Given the description of an element on the screen output the (x, y) to click on. 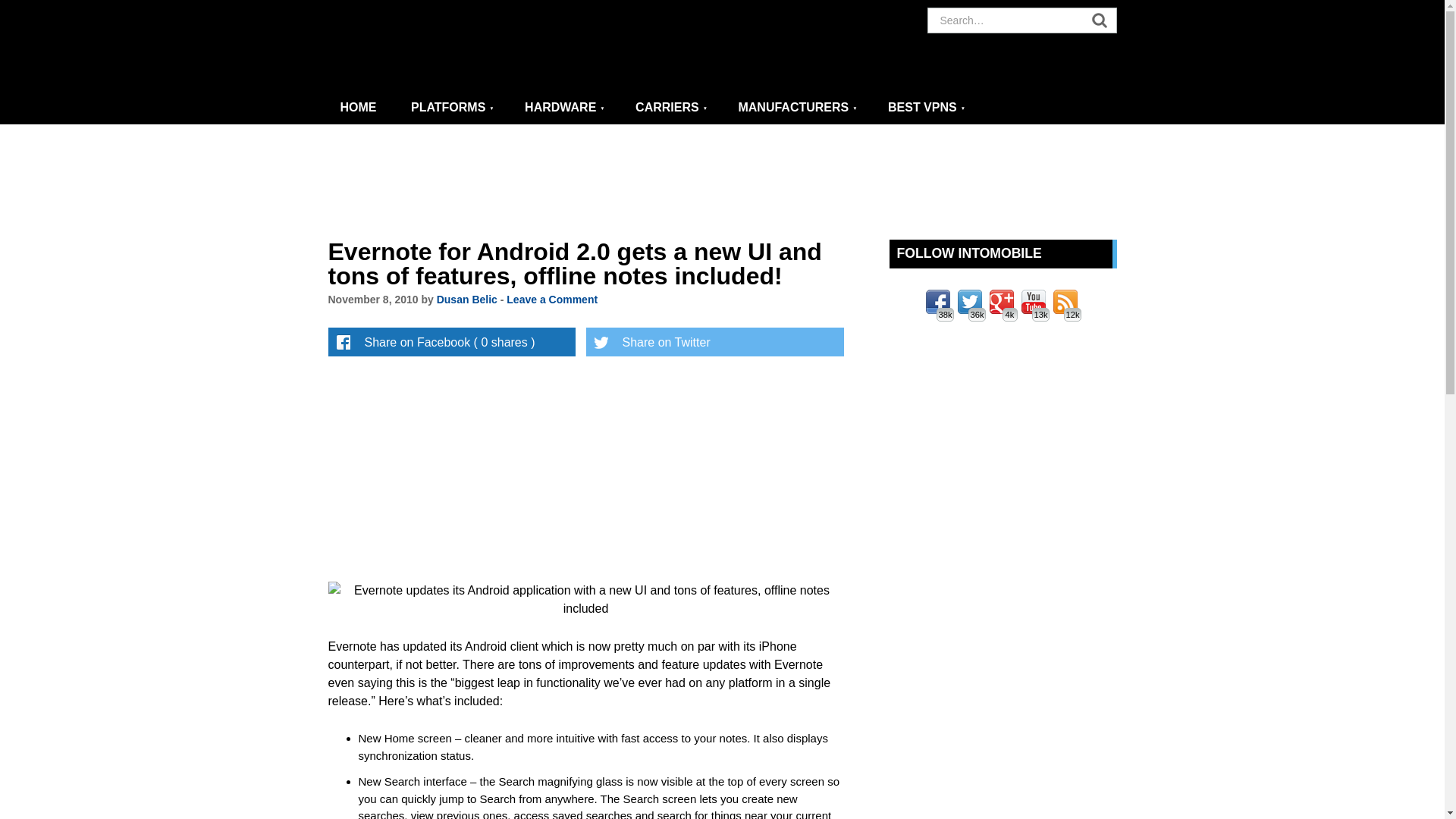
Advertisement (722, 182)
36k (968, 301)
Evernote for Android 2.0 (585, 599)
Dusan Belic (466, 299)
The Latest Cell Phone News and Reviews (359, 107)
CARRIERS (671, 107)
IntoMobile (463, 45)
PLATFORMS (452, 107)
Share on Twitter (714, 341)
Advertisement (729, 466)
